Given the description of an element on the screen output the (x, y) to click on. 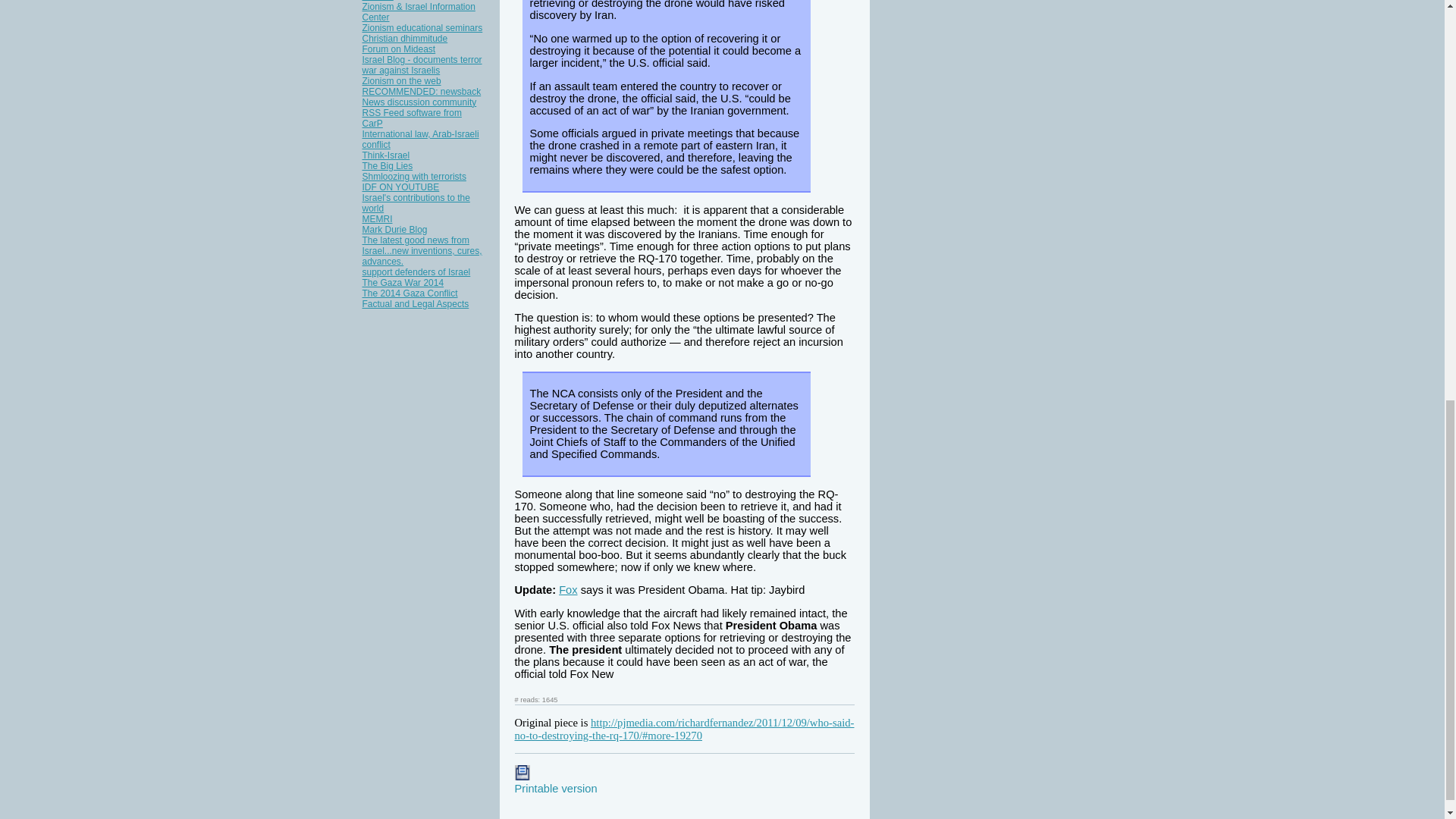
Zionism on the web (401, 81)
Think-Israel (386, 154)
The Big Lies (387, 165)
Zionism educational seminars (422, 27)
RSS Feed software from CarP (411, 117)
IDF ON YOUTUBE (400, 186)
Israel Blog - documents terror war against Israelis (421, 65)
RECOMMENDED: newsback News discussion community (421, 96)
Forum on Mideast (398, 49)
Christian dhimmitude (405, 38)
